Given the description of an element on the screen output the (x, y) to click on. 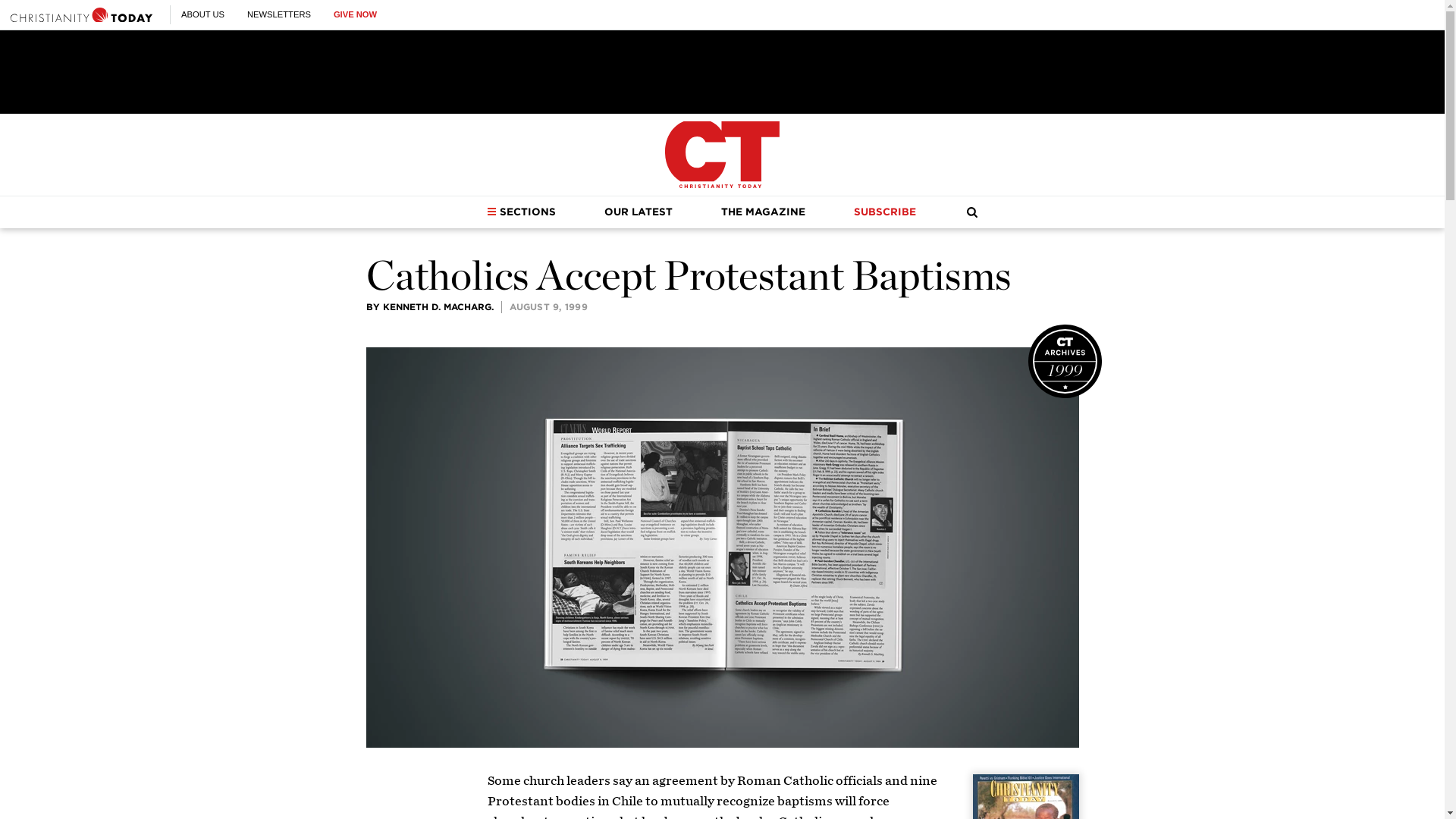
GIVE NOW (355, 14)
3rd party ad content (721, 71)
NEWSLETTERS (278, 14)
SECTIONS (521, 212)
ABOUT US (202, 14)
Christianity Today (81, 14)
Sections Dropdown (491, 211)
Christianity Today (721, 154)
